Given the description of an element on the screen output the (x, y) to click on. 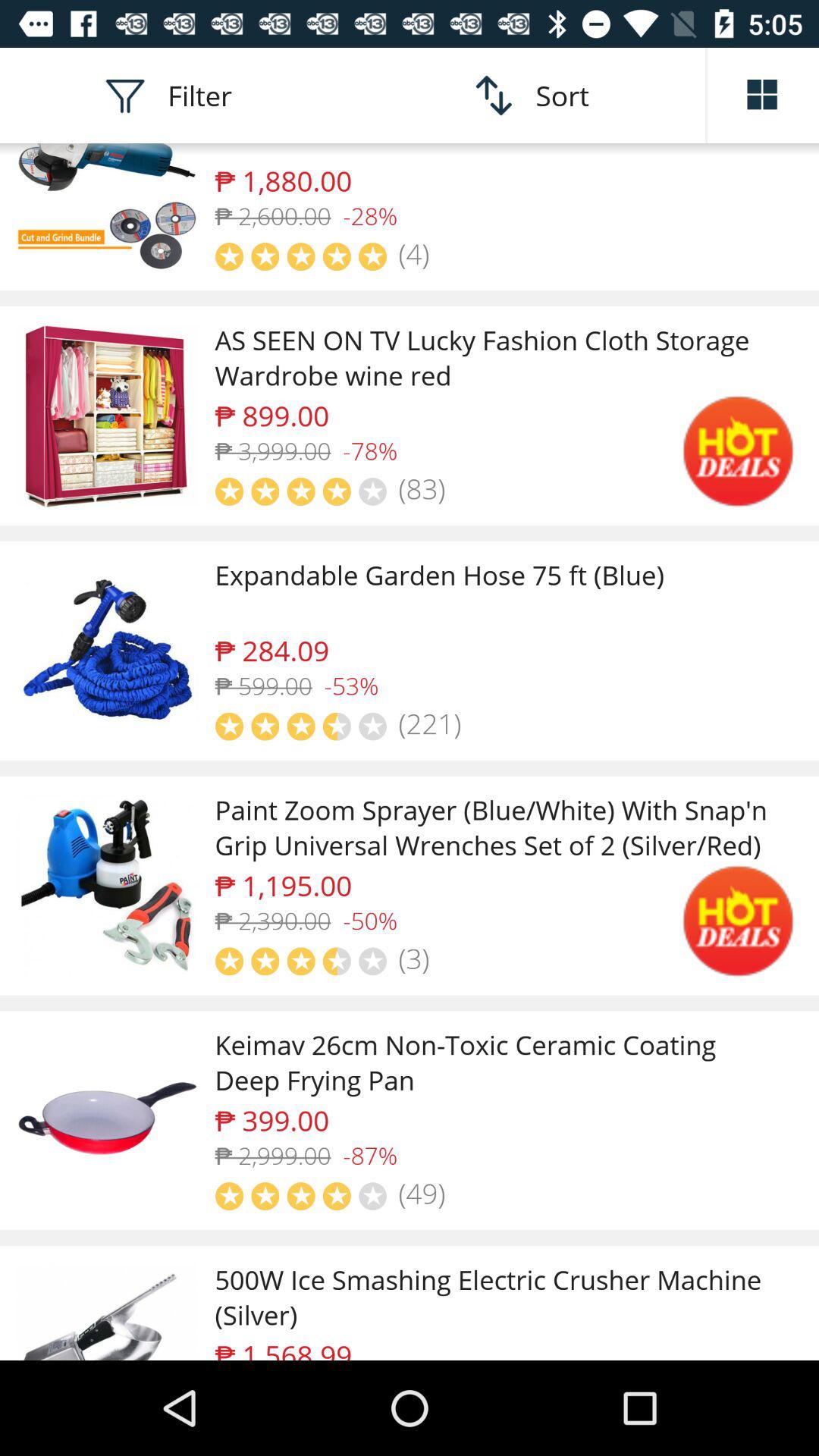
check menu (763, 95)
